Given the description of an element on the screen output the (x, y) to click on. 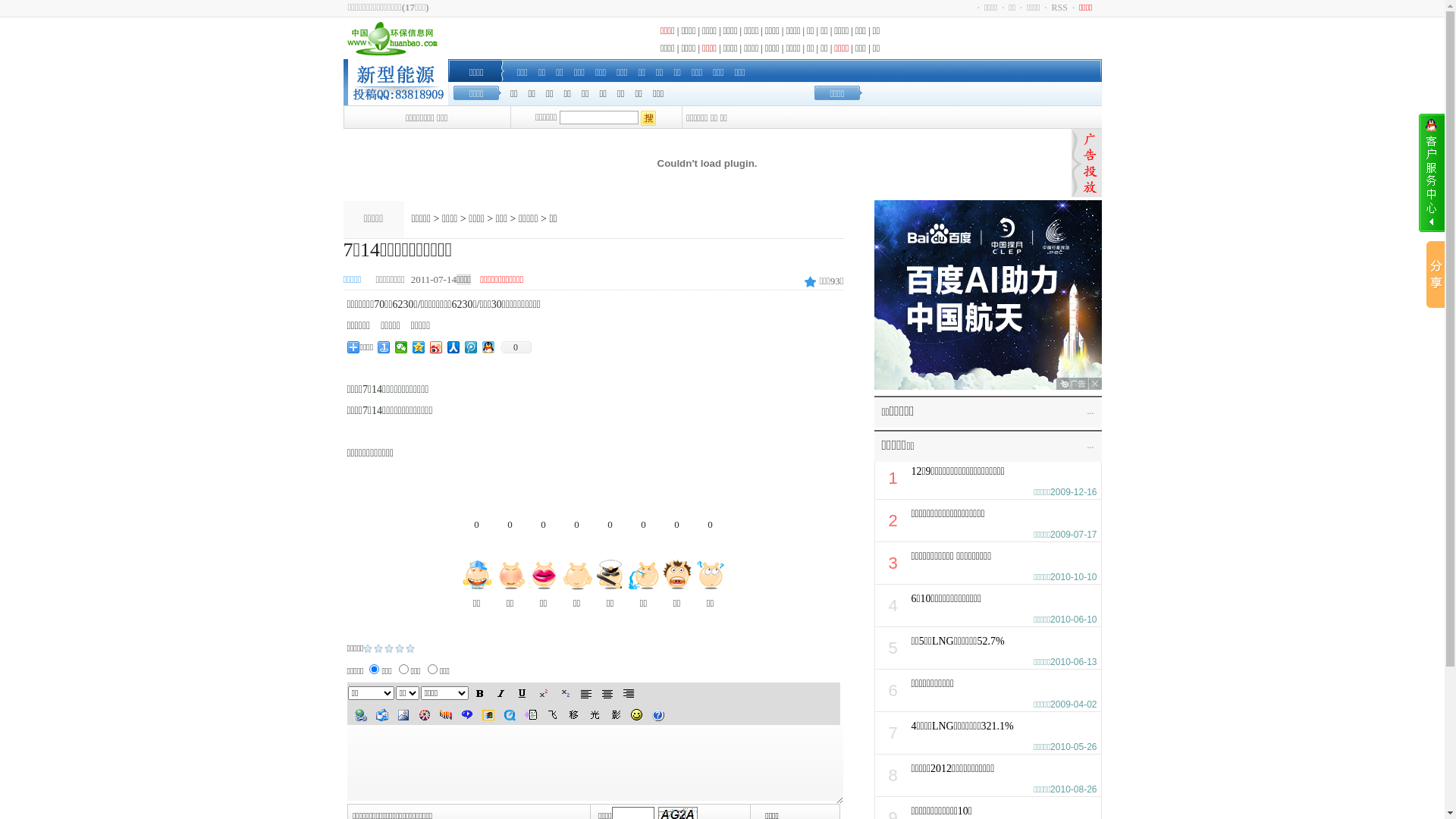
... Element type: text (1090, 444)
4 Element type: text (399, 647)
... Element type: text (1090, 410)
2 Element type: text (378, 647)
0 Element type: text (515, 347)
RSS Element type: text (1059, 7)
3 Element type: text (388, 647)
5 Element type: text (409, 647)
1 Element type: text (367, 647)
